Given the description of an element on the screen output the (x, y) to click on. 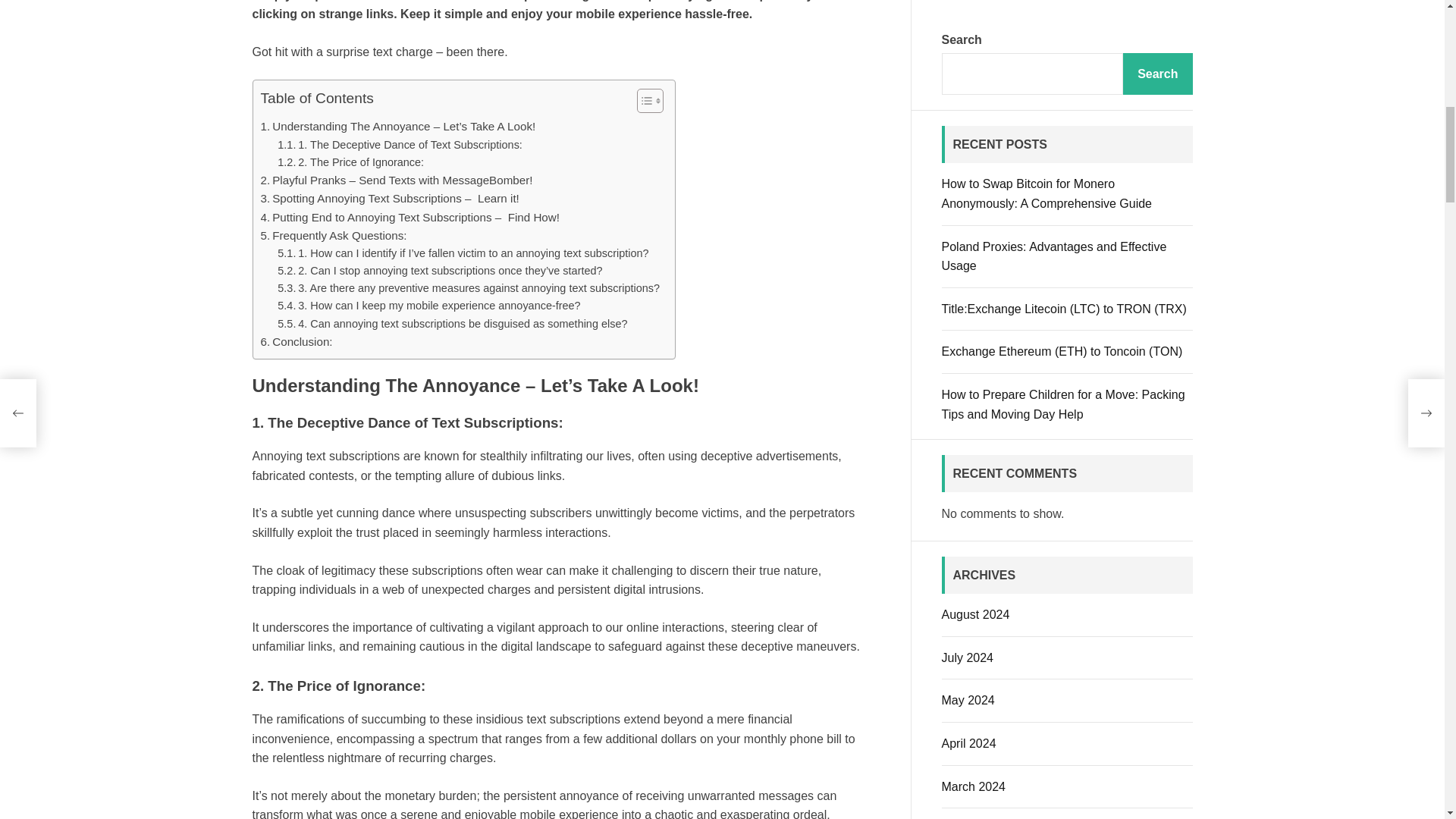
Frequently Ask Questions: (333, 235)
1. The Deceptive Dance of Text Subscriptions: (400, 144)
2. The Price of Ignorance: (350, 162)
1. The Deceptive Dance of Text Subscriptions: (400, 144)
2. The Price of Ignorance: (350, 162)
